Given the description of an element on the screen output the (x, y) to click on. 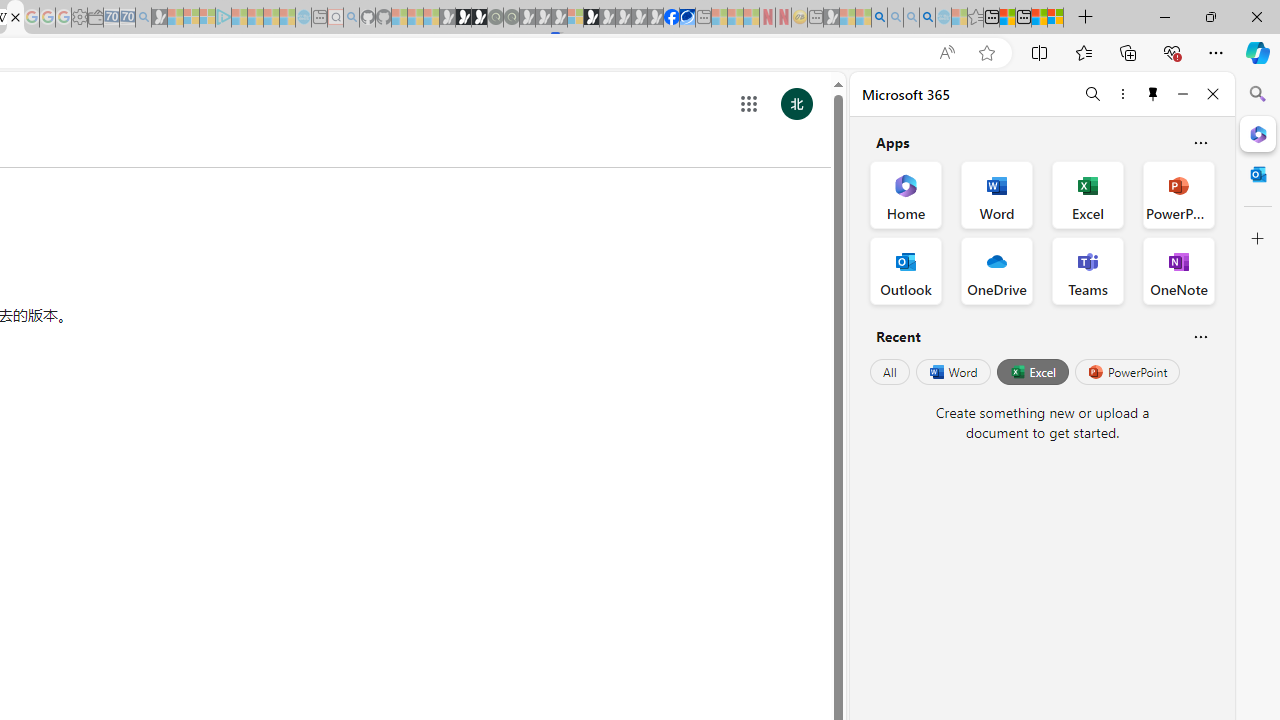
PowerPoint Office App (1178, 194)
Aberdeen, Hong Kong SAR weather forecast | Microsoft Weather (1007, 17)
Close Microsoft 365 pane (1258, 133)
MSN - Sleeping (831, 17)
Nordace | Facebook (671, 17)
